Given the description of an element on the screen output the (x, y) to click on. 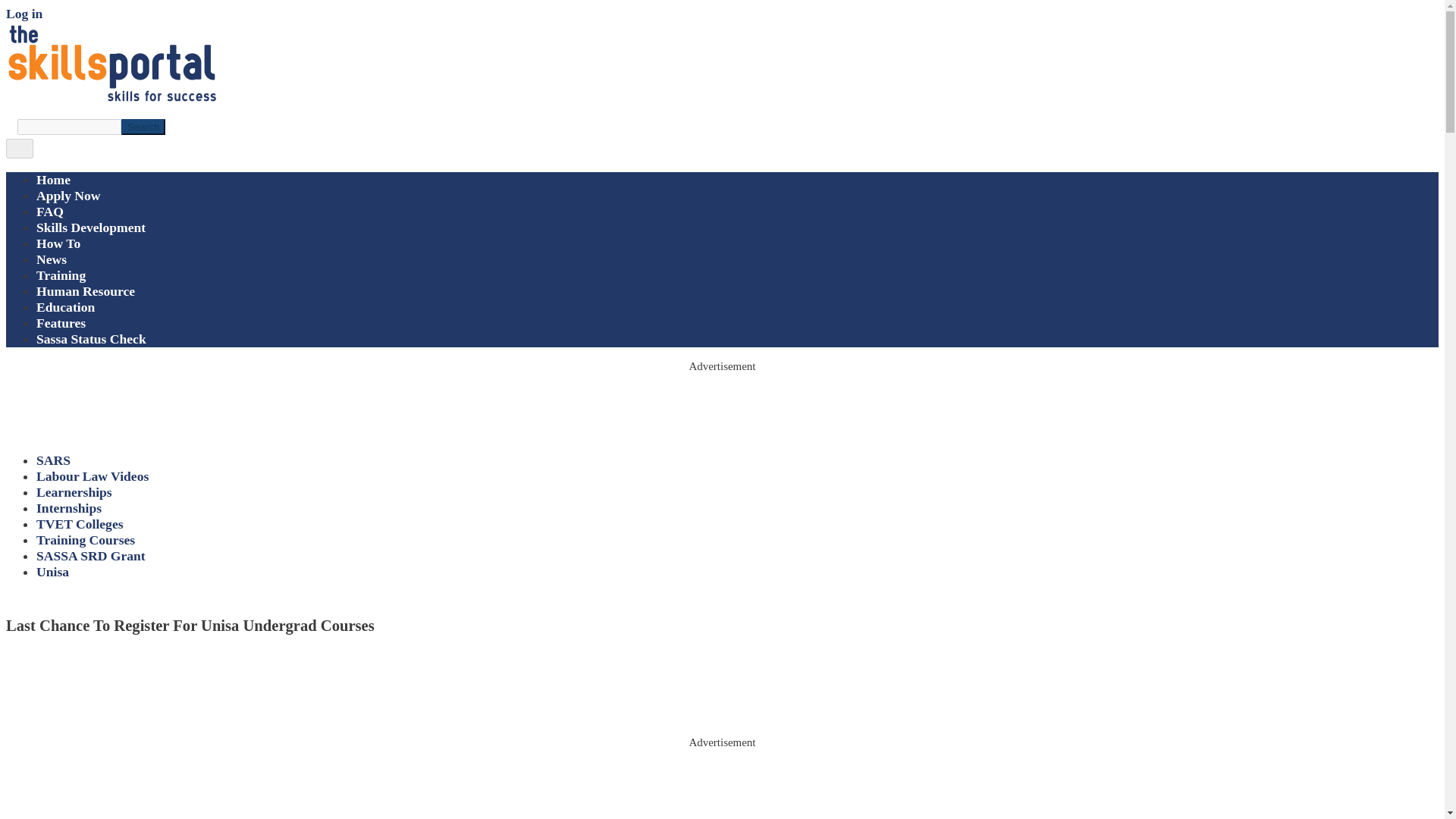
Unisa (52, 571)
Information on how to check Sassa grant status (91, 338)
Human Resource (85, 290)
TVET Colleges (79, 523)
SASSA SRD Grant (90, 555)
Sassa Status Check (91, 338)
Education (65, 306)
Learnerships (74, 491)
Training (60, 274)
Enter the terms you wish to search for. (68, 126)
FAQ (50, 211)
Skip to main content (722, 7)
SARS (52, 459)
Search (142, 126)
Apply Now (68, 195)
